Given the description of an element on the screen output the (x, y) to click on. 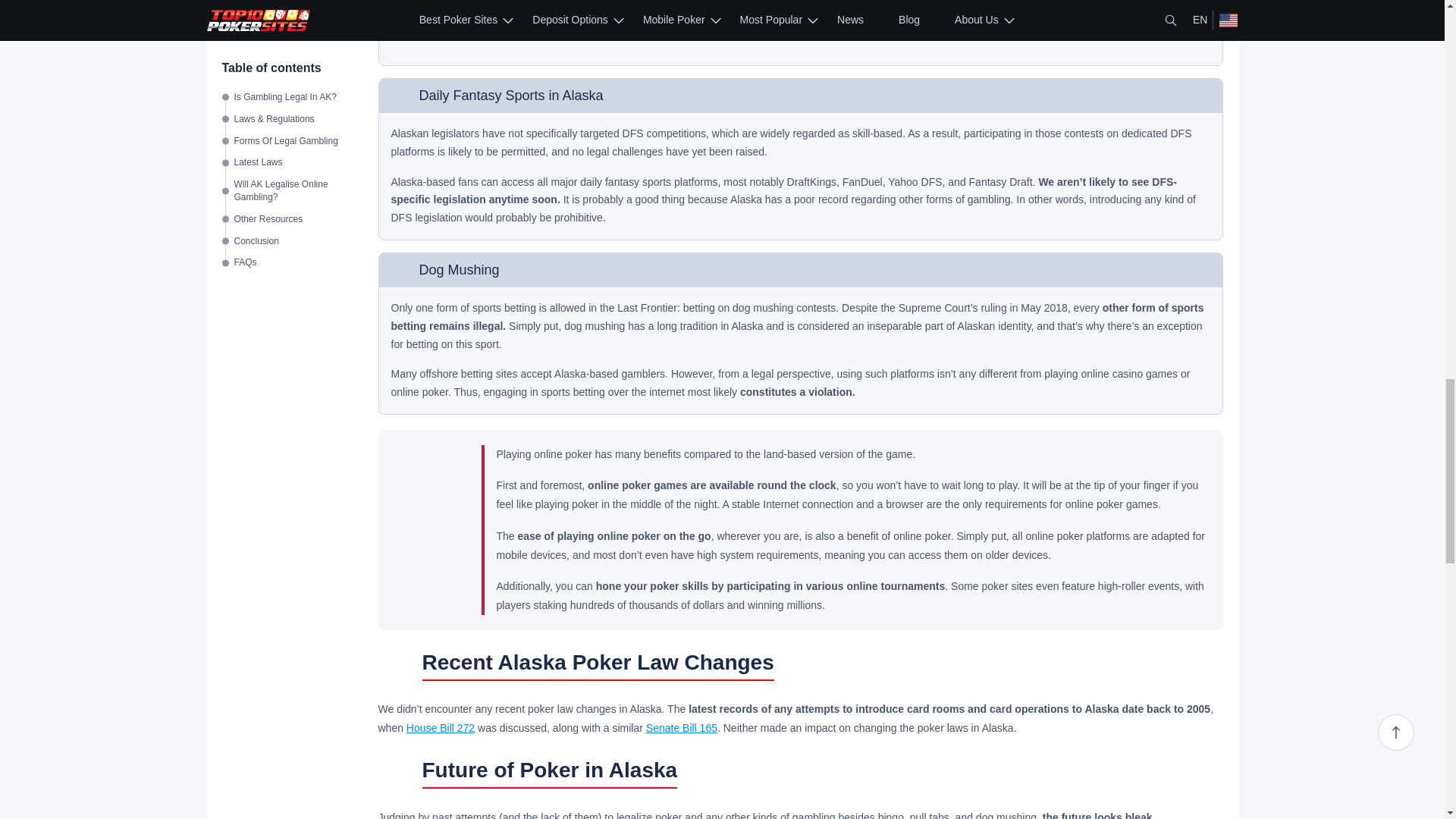
Future of Poker in Alaska (395, 774)
top-tip (430, 530)
Dog Mushing (400, 270)
Recent Alaska Poker Law Changes (395, 665)
Daily Fantasy Sports in Alaska (400, 95)
